Given the description of an element on the screen output the (x, y) to click on. 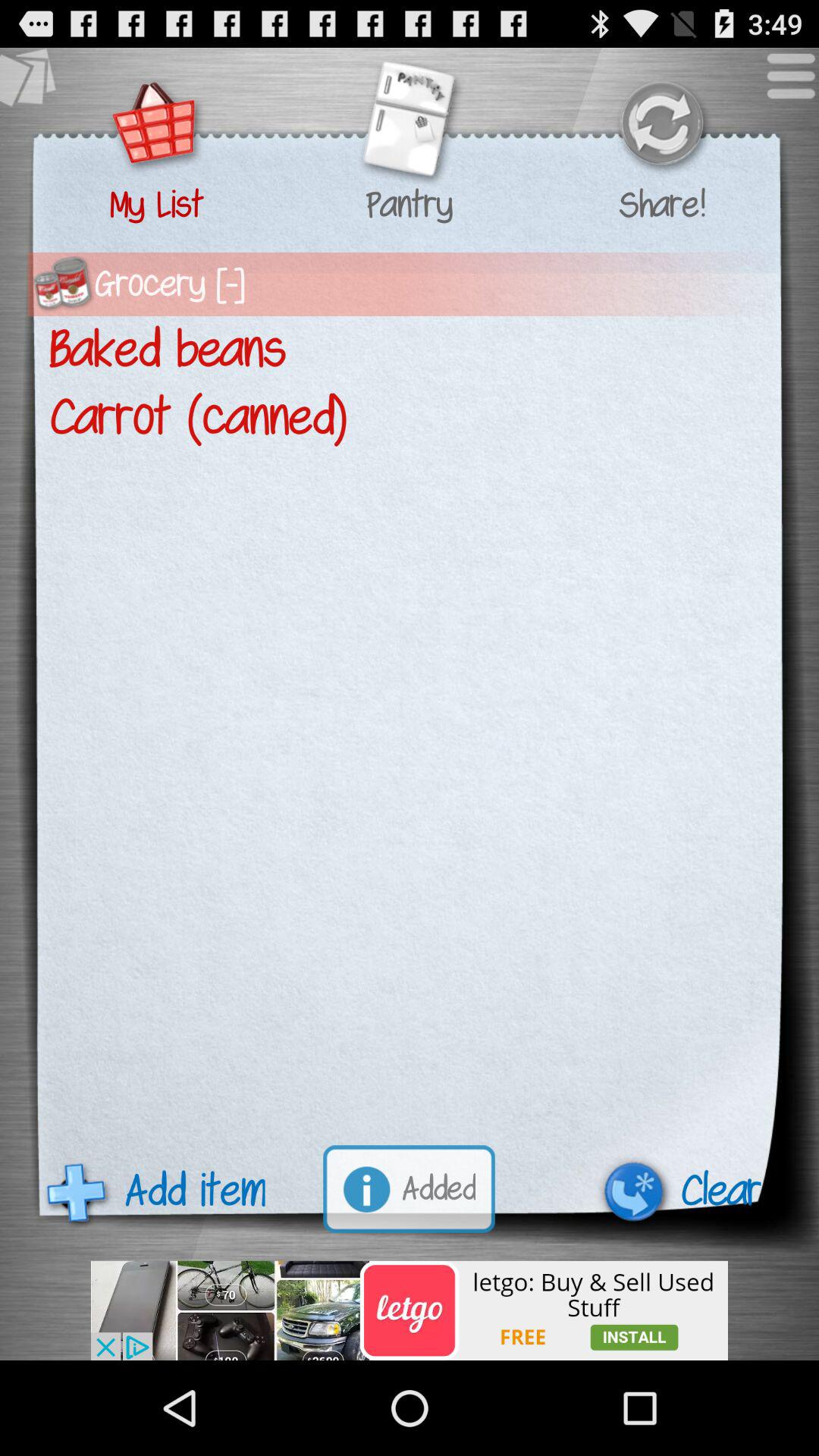
shopping list liston free (409, 1310)
